Given the description of an element on the screen output the (x, y) to click on. 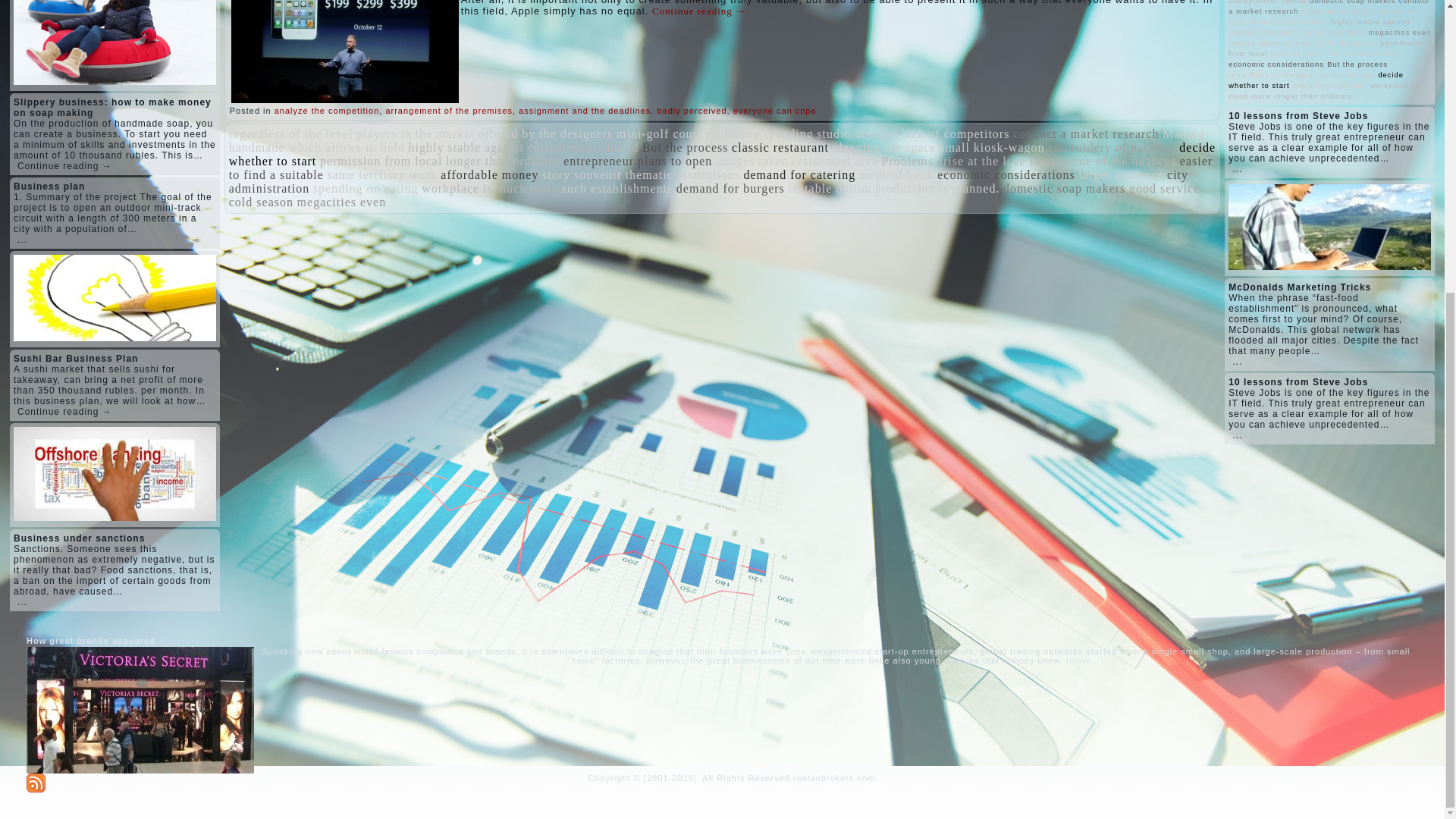
1 topics (658, 133)
Making handmade (716, 140)
conduct a market research (1085, 133)
everyone can cope (774, 110)
2 topics (544, 133)
1 topics (415, 133)
players in the market (415, 133)
analyze the competition (327, 110)
which allows to hold (346, 146)
2 topics (758, 133)
